Given the description of an element on the screen output the (x, y) to click on. 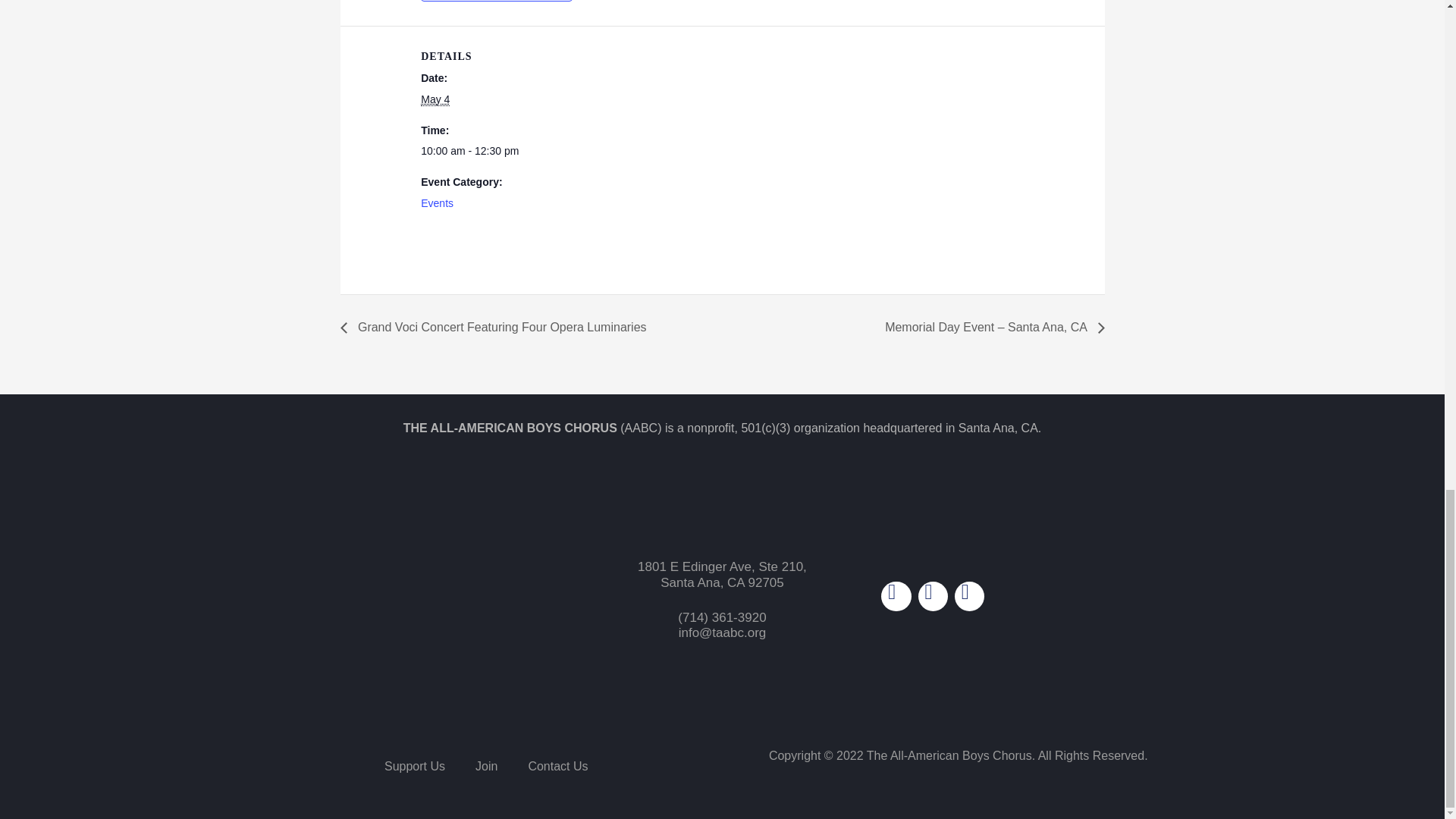
2024-05-04 (484, 151)
2024-05-04 (434, 99)
